Given the description of an element on the screen output the (x, y) to click on. 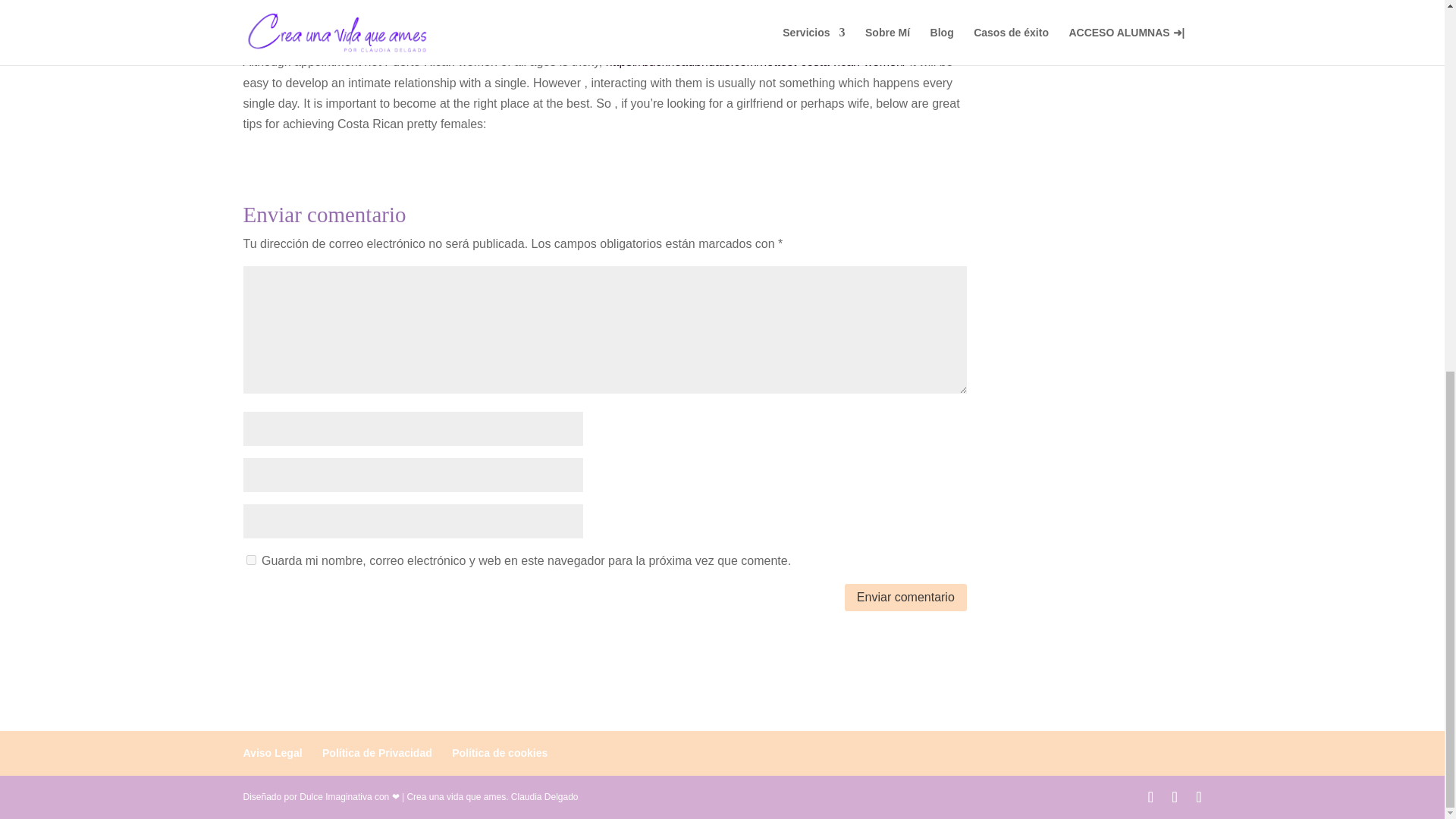
Aviso Legal (272, 752)
Enviar comentario (905, 597)
yes (251, 560)
Enviar comentario (905, 597)
